Given the description of an element on the screen output the (x, y) to click on. 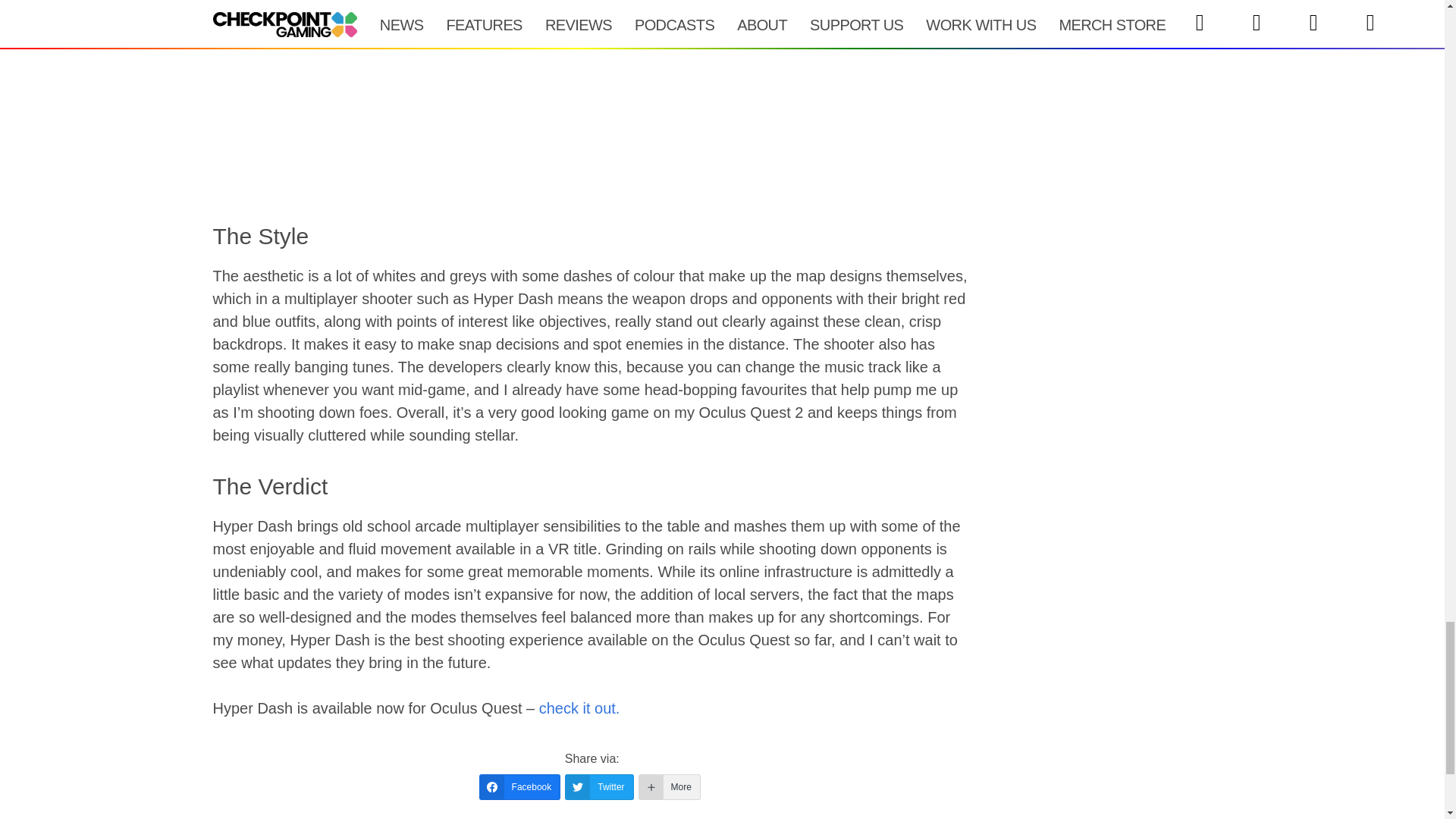
check it out. (579, 708)
More (669, 786)
Twitter (598, 786)
Facebook (519, 786)
